Given the description of an element on the screen output the (x, y) to click on. 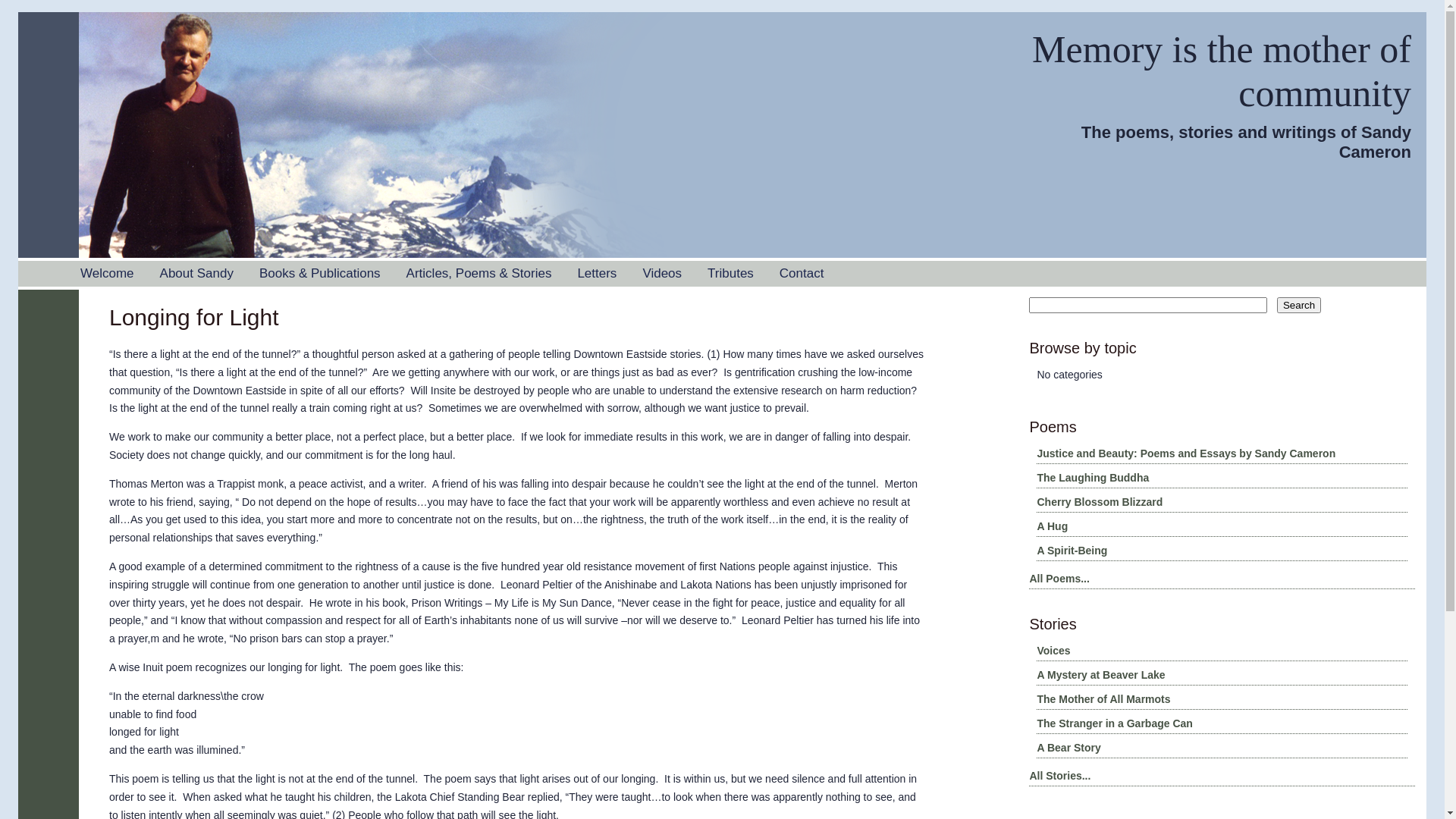
Justice and Beauty: Poems and Essays by Sandy Cameron Element type: text (1221, 455)
Books & Publications Element type: text (319, 273)
A Bear Story Element type: text (1221, 749)
Tributes Element type: text (730, 273)
Contact Element type: text (801, 273)
Cherry Blossom Blizzard Element type: text (1221, 503)
All Stories... Element type: text (1222, 777)
Search Element type: text (1299, 305)
A Spirit-Being Element type: text (1221, 552)
About Sandy Element type: text (196, 273)
Videos Element type: text (661, 273)
A Mystery at Beaver Lake Element type: text (1221, 676)
Voices Element type: text (1221, 652)
A Hug Element type: text (1221, 528)
Memory is the mother of community Element type: text (1221, 71)
All Poems... Element type: text (1222, 580)
The Stranger in a Garbage Can Element type: text (1221, 725)
The Laughing Buddha Element type: text (1221, 479)
Welcome Element type: text (107, 273)
Articles, Poems & Stories Element type: text (478, 273)
Letters Element type: text (596, 273)
The Mother of All Marmots Element type: text (1221, 701)
Skip to content Element type: text (70, 272)
